Given the description of an element on the screen output the (x, y) to click on. 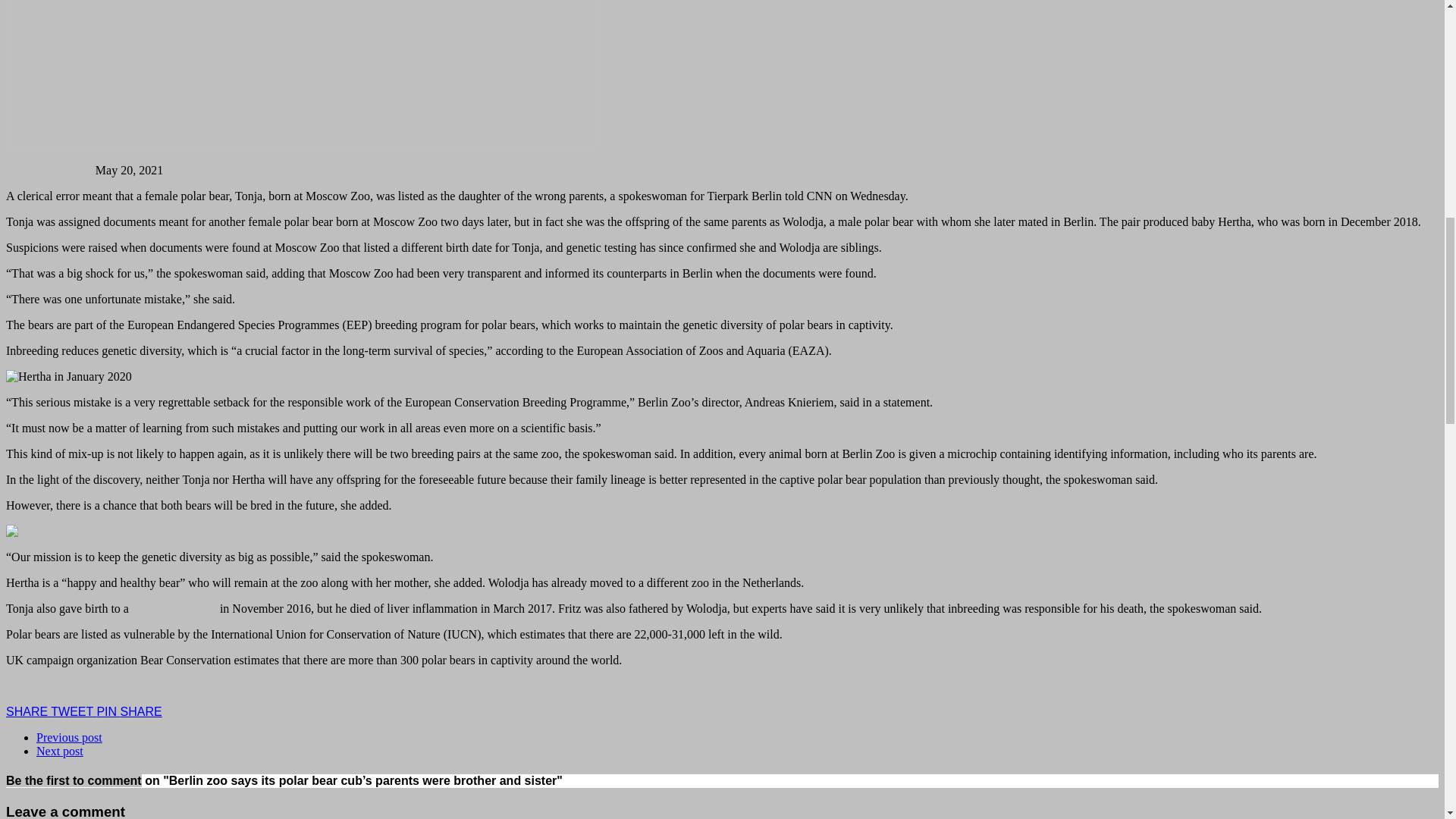
SHARE (27, 711)
TWEET (73, 711)
SHARE (140, 711)
PIN (107, 711)
Pin This Post (107, 711)
Previous post (68, 737)
Next post (59, 750)
baby named Fritz (174, 608)
admin (77, 169)
Share on Facebook (27, 711)
Tweet This Post (73, 711)
Source link (33, 685)
